Given the description of an element on the screen output the (x, y) to click on. 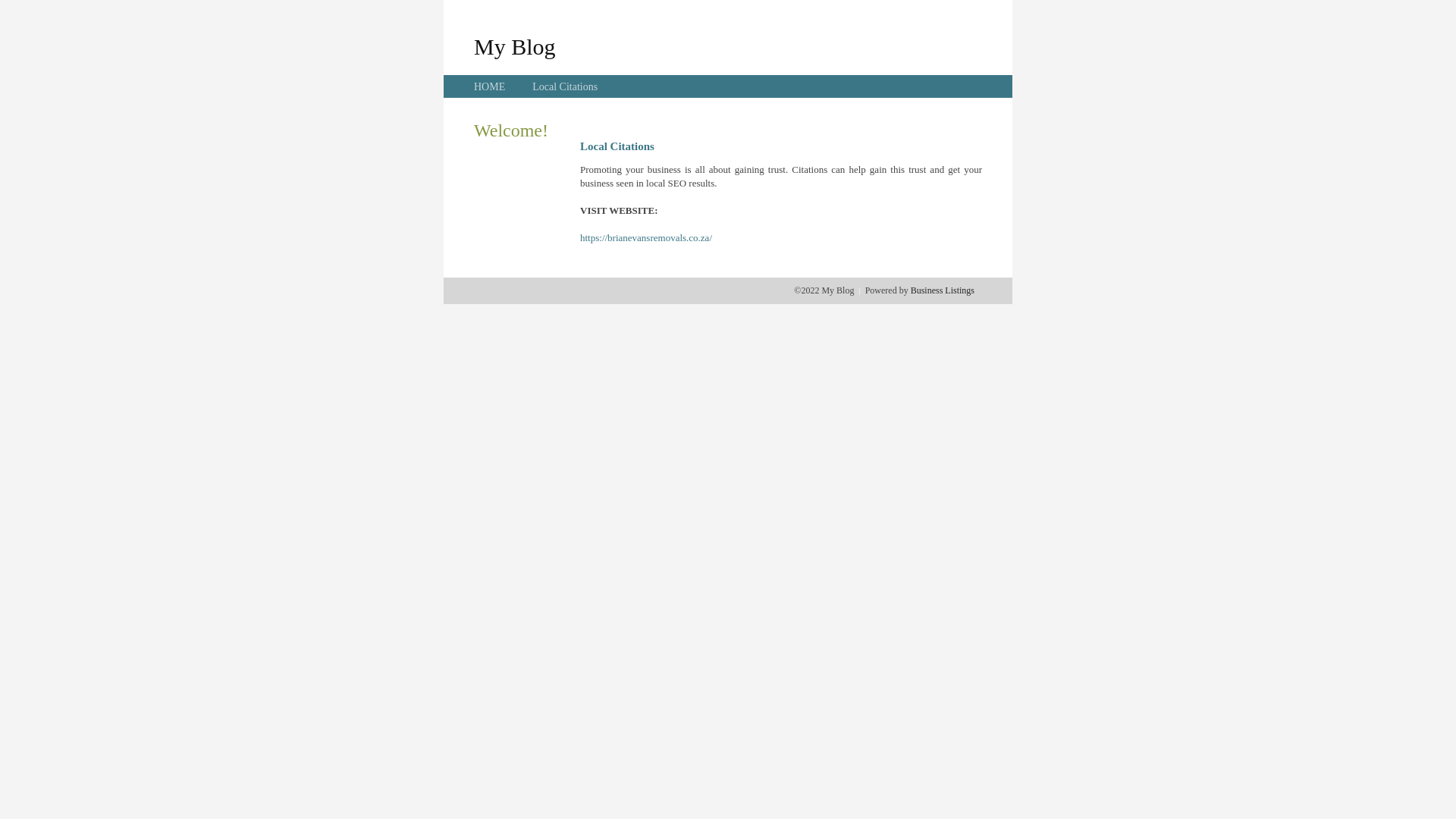
HOME Element type: text (489, 86)
My Blog Element type: text (514, 46)
Business Listings Element type: text (942, 290)
Local Citations Element type: text (564, 86)
https://brianevansremovals.co.za/ Element type: text (646, 237)
